Given the description of an element on the screen output the (x, y) to click on. 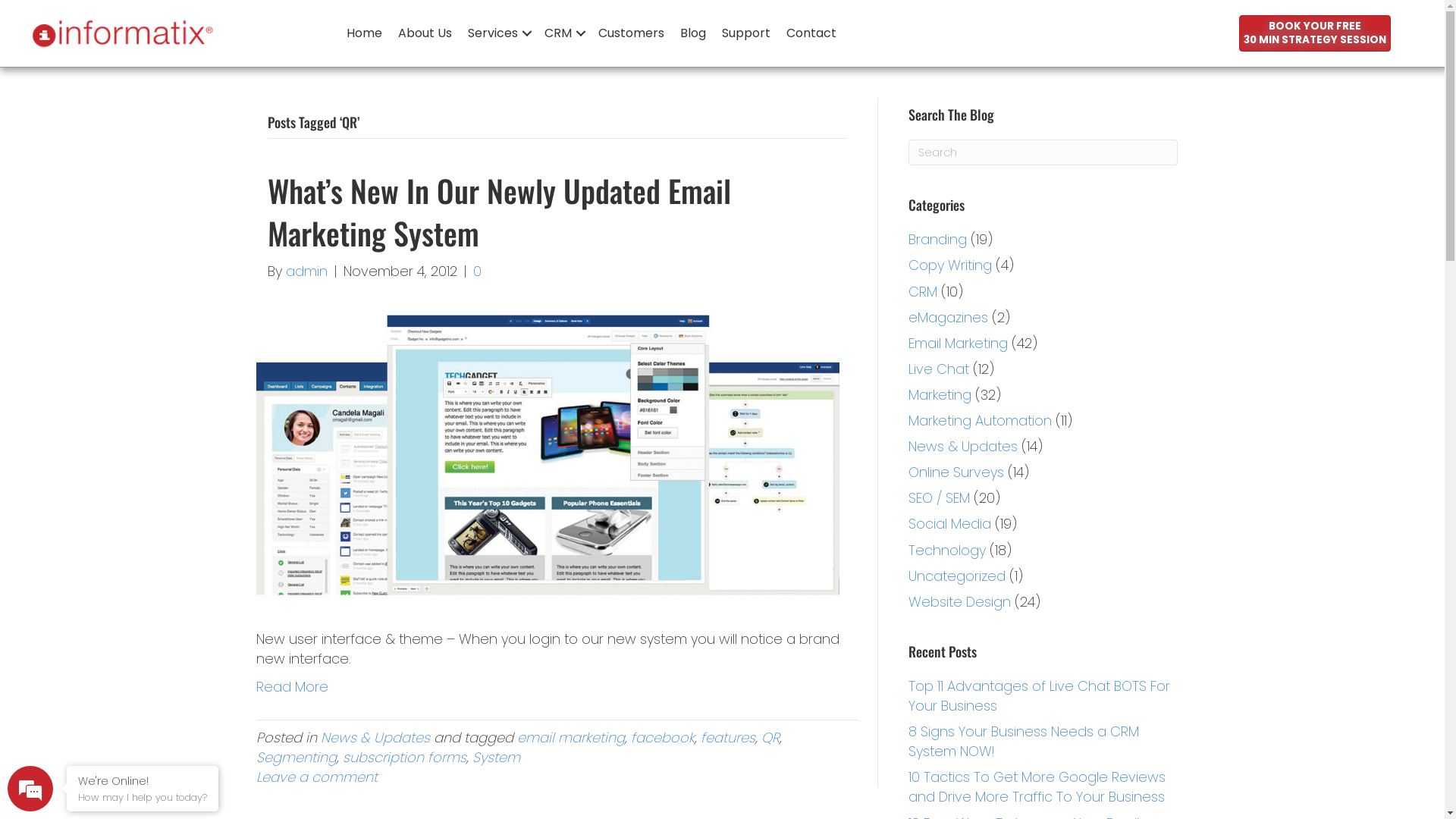
Support Element type: text (746, 32)
subscription forms Element type: text (404, 756)
email marketing Element type: text (570, 737)
Social Media Element type: text (949, 523)
About Us Element type: text (424, 32)
News & Updates Element type: text (962, 445)
SEO / SEM Element type: text (938, 497)
Top 11 Advantages of Live Chat BOTS For Your Business Element type: text (1039, 695)
8 Signs Your Business Needs a CRM System NOW! Element type: text (1023, 740)
Marketing Automation Element type: text (979, 420)
informatix-logo-2021-website Element type: hover (120, 32)
Read More Element type: text (292, 685)
features Element type: text (727, 737)
Customers Element type: text (630, 32)
Email Marketing Element type: text (957, 342)
CRM Element type: text (922, 291)
Copy Writing Element type: text (949, 264)
BOOK YOUR FREE
30 MIN STRATEGY SESSION Element type: text (1314, 33)
Segmenting Element type: text (296, 756)
Blog Element type: text (692, 32)
System Element type: text (495, 756)
admin Element type: text (305, 270)
facebook Element type: text (662, 737)
Home Element type: text (363, 32)
Uncategorized Element type: text (956, 575)
0 Element type: text (477, 270)
Online Surveys Element type: text (956, 471)
Leave a comment Element type: text (316, 776)
Website Design Element type: text (959, 601)
Technology Element type: text (946, 548)
QR Element type: text (770, 737)
eMagazines Element type: text (948, 316)
Marketing Element type: text (939, 394)
Contact Element type: text (811, 32)
Type and press Enter to search. Element type: hover (1042, 152)
Live Chat Element type: text (938, 368)
News & Updates Element type: text (374, 737)
Branding Element type: text (937, 238)
